Given the description of an element on the screen output the (x, y) to click on. 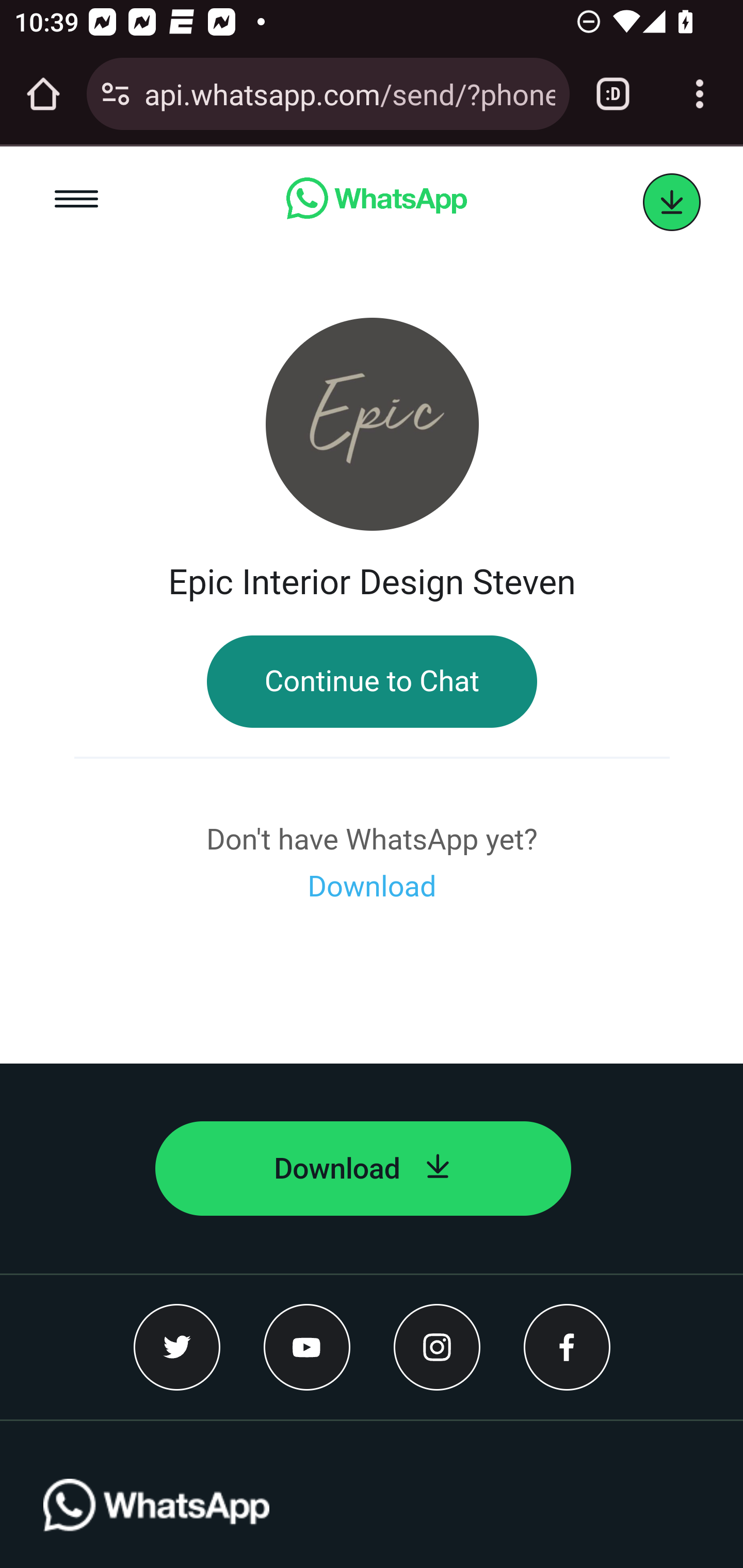
Open the home page (43, 93)
Connection is secure (115, 93)
Switch or close tabs (612, 93)
Customize and control Google Chrome (699, 93)
Open mobile menu (77, 202)
details?id=com (672, 203)
WhatsApp Main Page (376, 202)
Continue to Chat (371, 682)
Download Download Download (371, 886)
Download (363, 1168)
Twitter (177, 1347)
Youtube (307, 1347)
Instagram (436, 1347)
Facebook (566, 1347)
WhatsApp Main Logo (157, 1523)
